Given the description of an element on the screen output the (x, y) to click on. 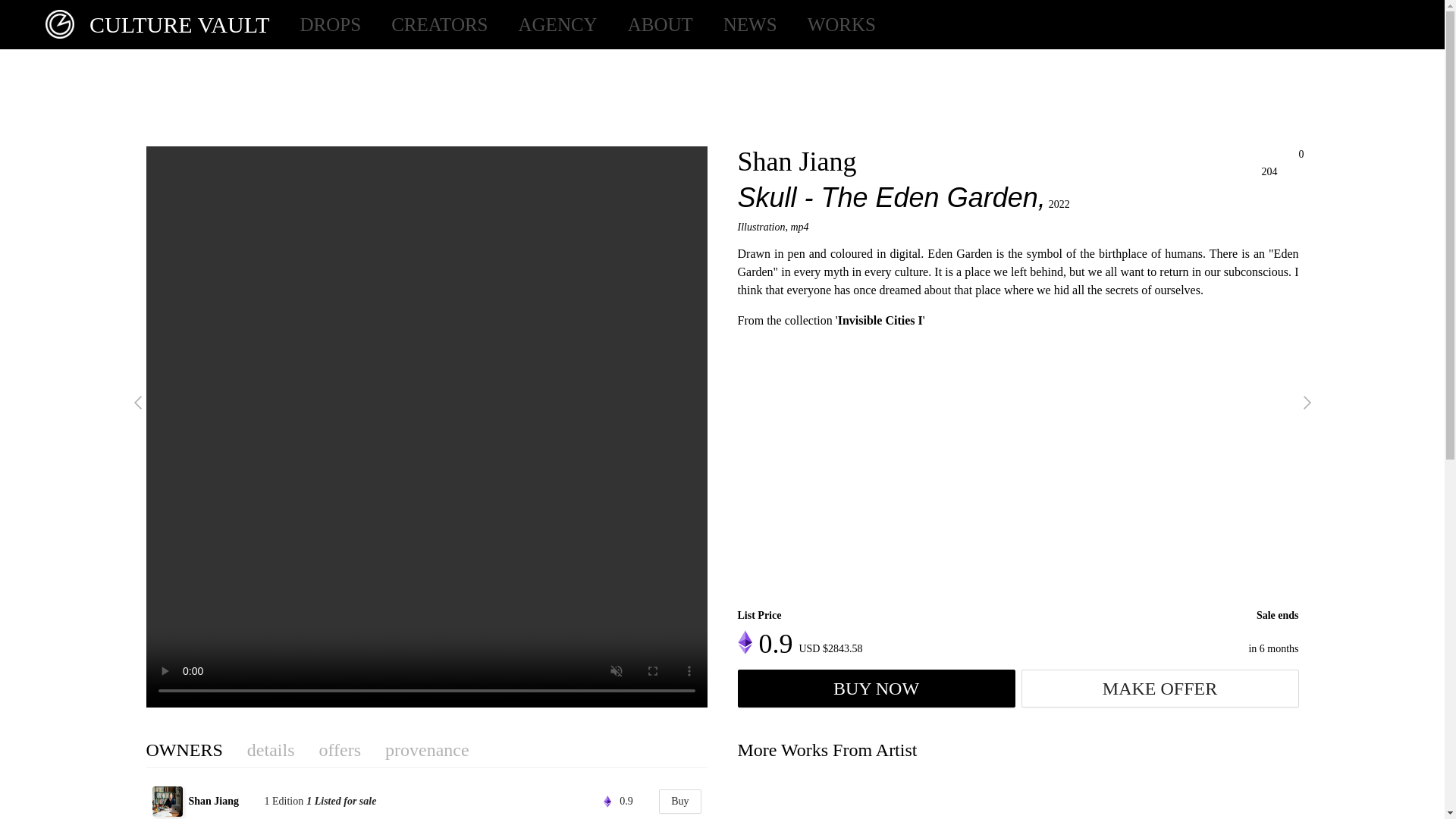
Shan Jiang (223, 801)
NEWS (750, 24)
CREATORS (439, 24)
Shan Jiang (796, 161)
CULTURE VAULT (149, 24)
BUY NOW (875, 688)
MAKE OFFER (1159, 688)
AGENCY (557, 24)
ABOUT (660, 24)
Invisible Cities I (880, 319)
